Given the description of an element on the screen output the (x, y) to click on. 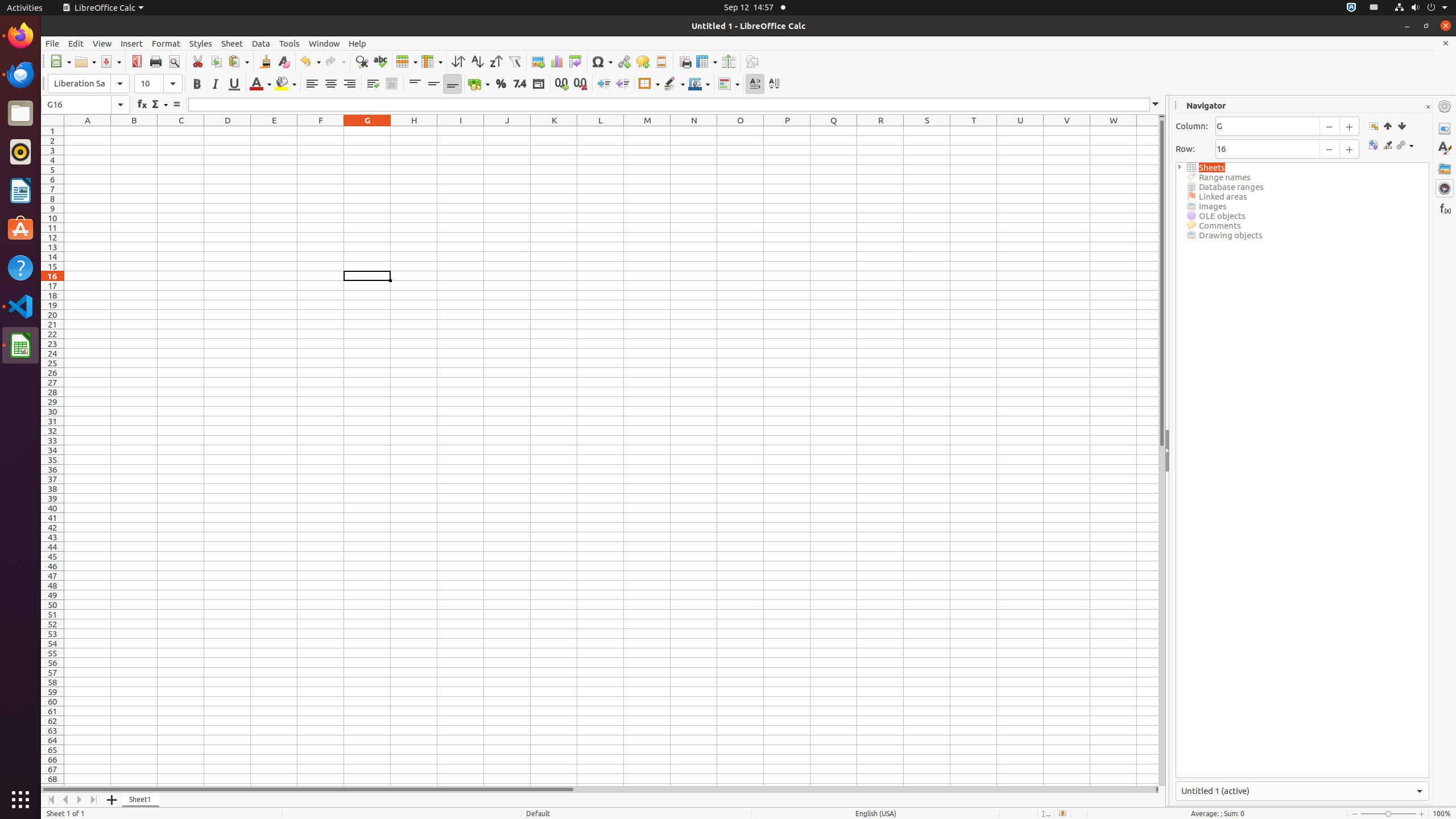
W1 Element type: table-cell (1113, 130)
S1 Element type: table-cell (926, 130)
Print Preview Element type: toggle-button (173, 61)
Scenarios Element type: push-button (1387, 144)
